Given the description of an element on the screen output the (x, y) to click on. 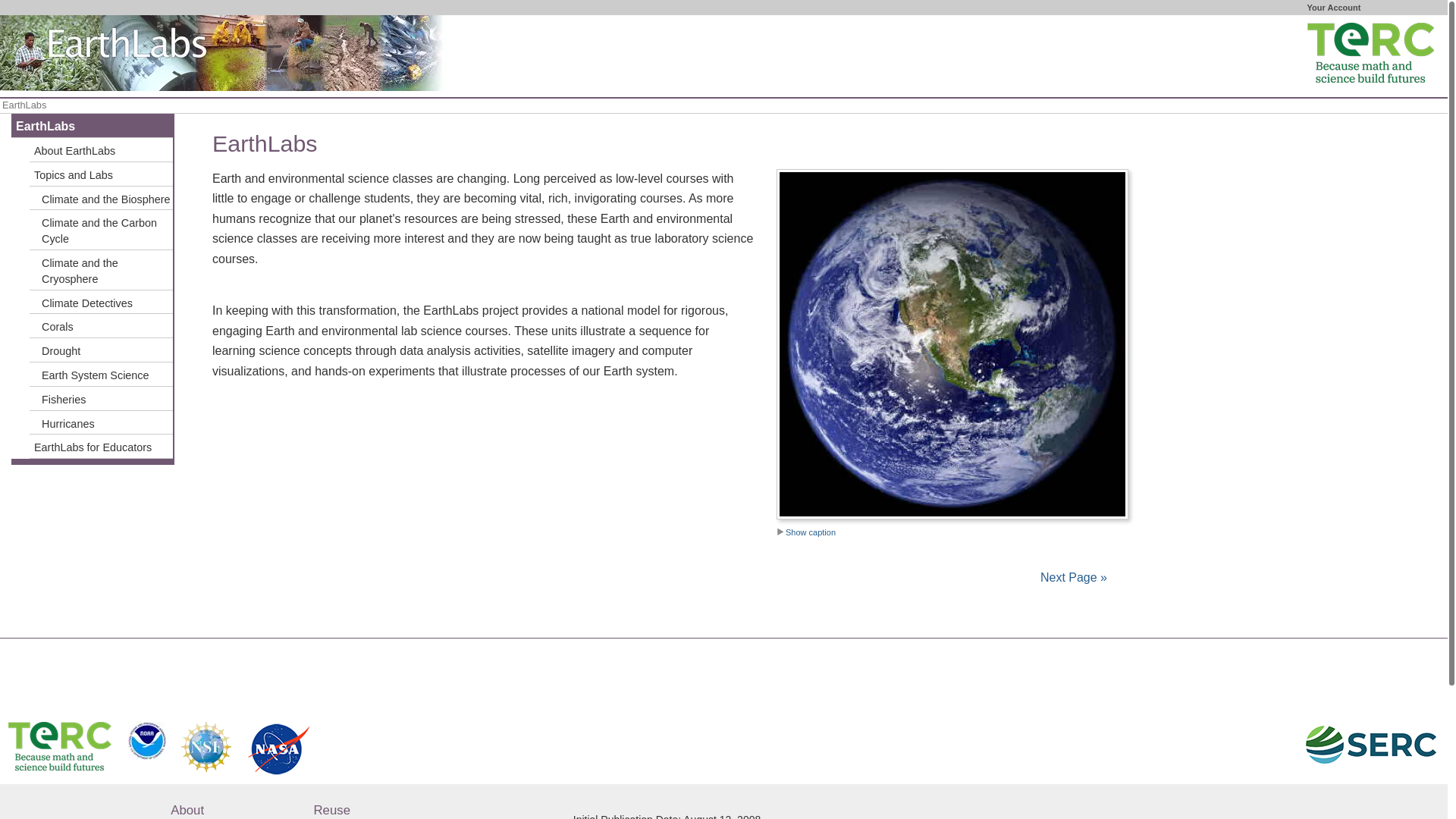
Drought (101, 350)
Climate Detectives (101, 302)
Earth System Science (101, 374)
Climate and the Carbon Cycle (101, 229)
Corals (101, 325)
Show caption (805, 532)
Climate and the Biosphere (101, 198)
EarthLabs (92, 125)
Fisheries (101, 398)
EarthLabs for Educators (101, 446)
About EarthLabs (101, 150)
Topics and Labs (101, 174)
Hurricanes (101, 422)
Climate and the Cryosphere (101, 270)
